Given the description of an element on the screen output the (x, y) to click on. 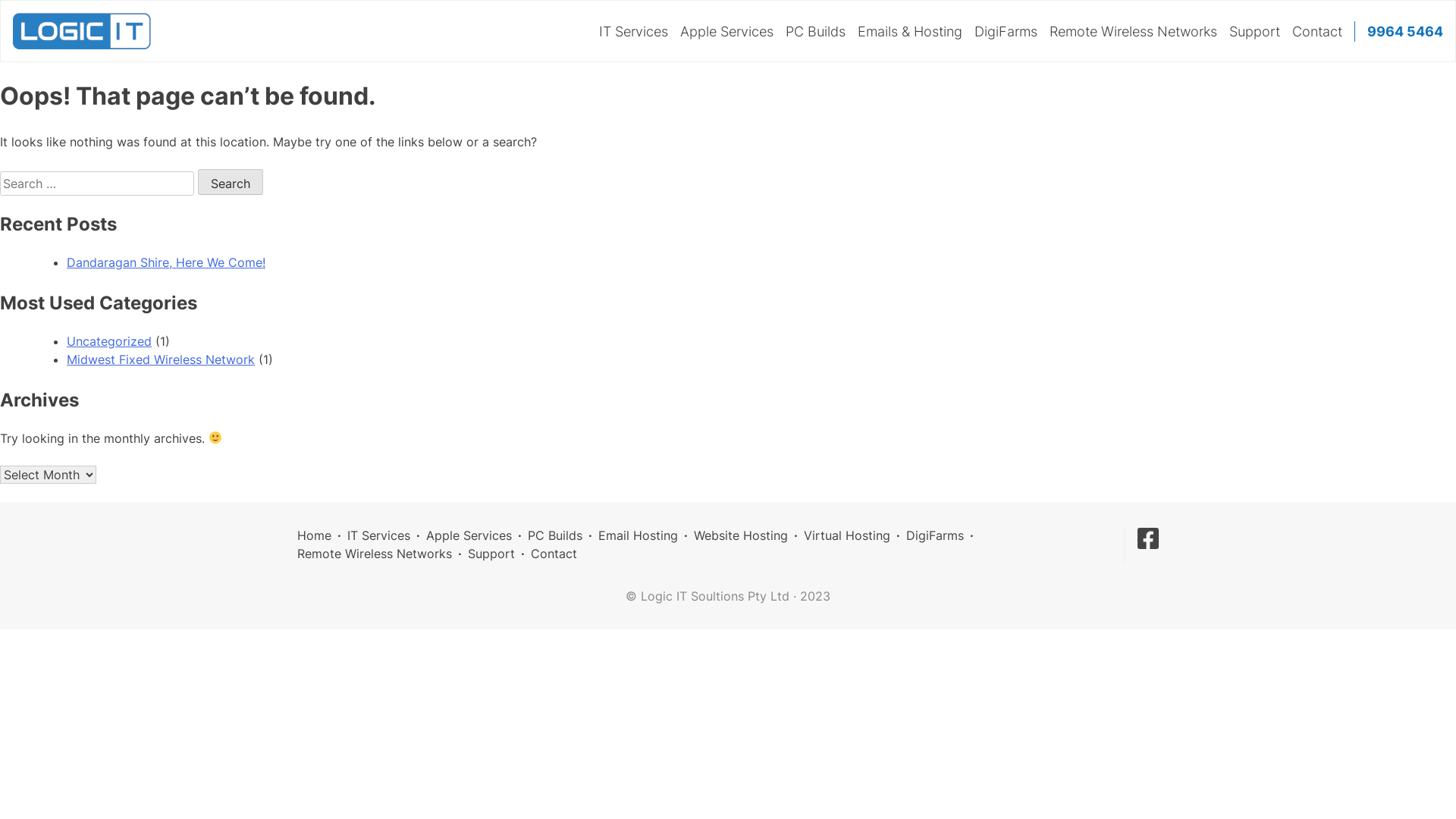
PC Builds Element type: text (815, 31)
PC Builds Element type: text (554, 534)
Search Element type: text (230, 181)
Apple Services Element type: text (726, 31)
Support Element type: text (490, 553)
Remote Wireless Networks Element type: text (1133, 31)
Remote Wireless Networks Element type: text (374, 553)
Home Element type: text (314, 534)
Support Element type: text (1254, 31)
Uncategorized Element type: text (108, 340)
DigiFarms Element type: text (934, 534)
DigiFarms Element type: text (1005, 31)
Dandaragan Shire, Here We Come! Element type: text (165, 261)
Contact Element type: text (1317, 31)
Emails & Hosting Element type: text (909, 31)
IT Services Element type: text (378, 534)
Email Hosting Element type: text (637, 534)
Contact Element type: text (553, 553)
Website Hosting Element type: text (740, 534)
Apple Services Element type: text (468, 534)
9964 5464 Element type: text (1405, 31)
IT Services Element type: text (633, 31)
Midwest Fixed Wireless Network Element type: text (160, 359)
Virtual Hosting Element type: text (846, 534)
